Given the description of an element on the screen output the (x, y) to click on. 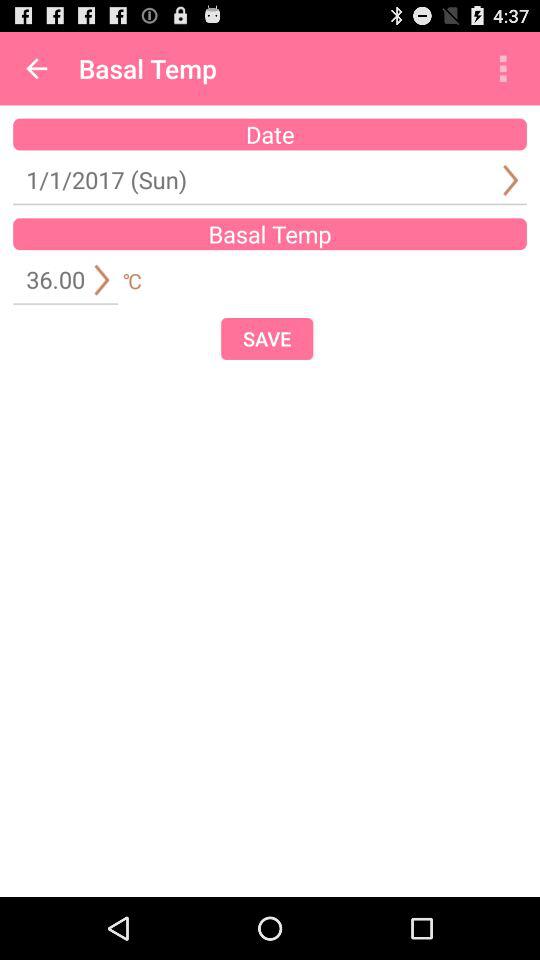
turn on icon below basal temp item (267, 338)
